Given the description of an element on the screen output the (x, y) to click on. 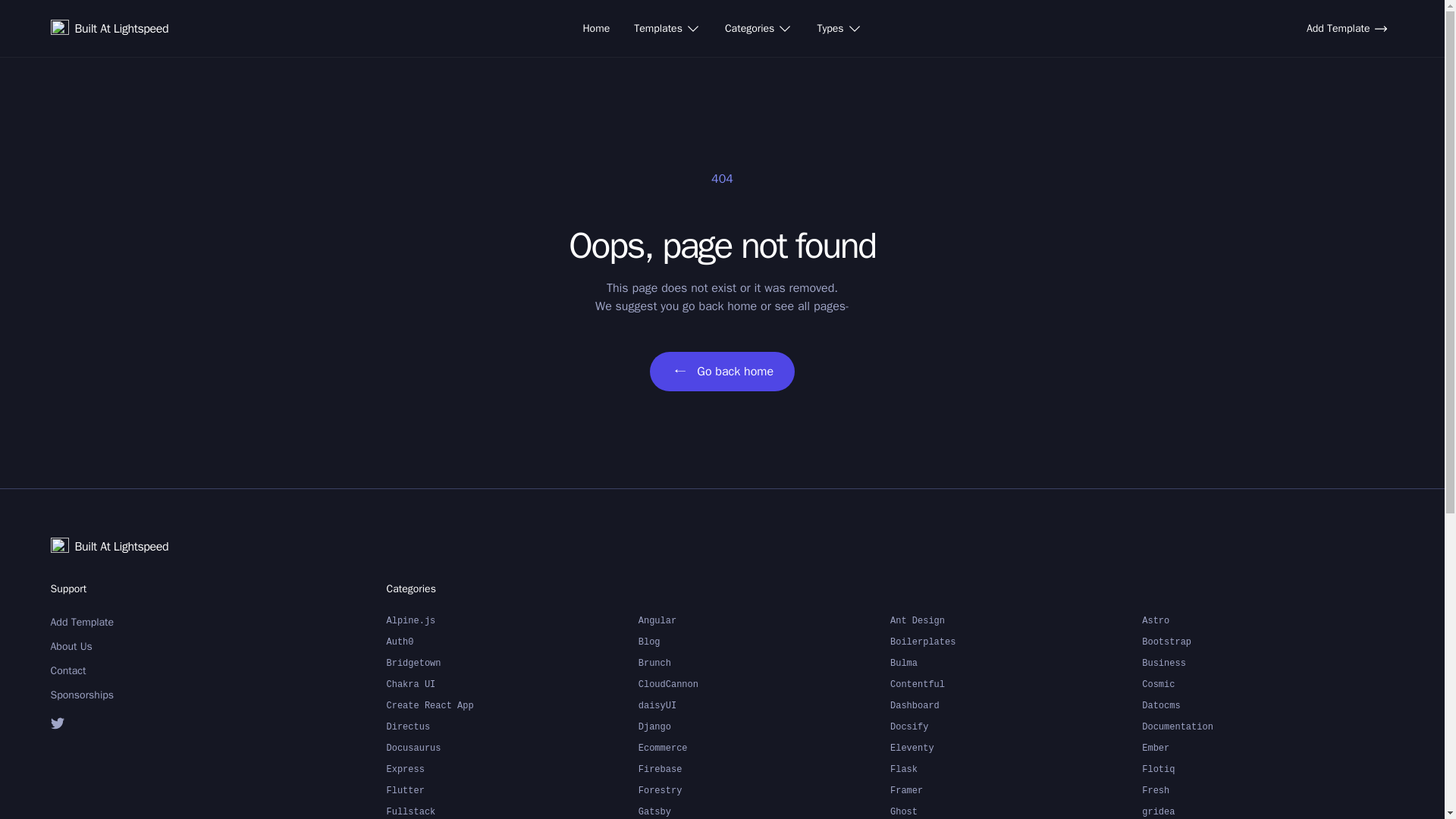
Categories (759, 28)
Bulma (1015, 663)
Cosmic (1267, 684)
Add Template (1347, 28)
Datocms (1267, 705)
Documentation (1267, 726)
Django (764, 726)
Astro (1267, 620)
Angular (764, 620)
Auth0 (513, 641)
Boilerplates (1015, 641)
Add Template (127, 622)
Chakra UI (513, 684)
Alpine.js (513, 620)
Blog (764, 641)
